Given the description of an element on the screen output the (x, y) to click on. 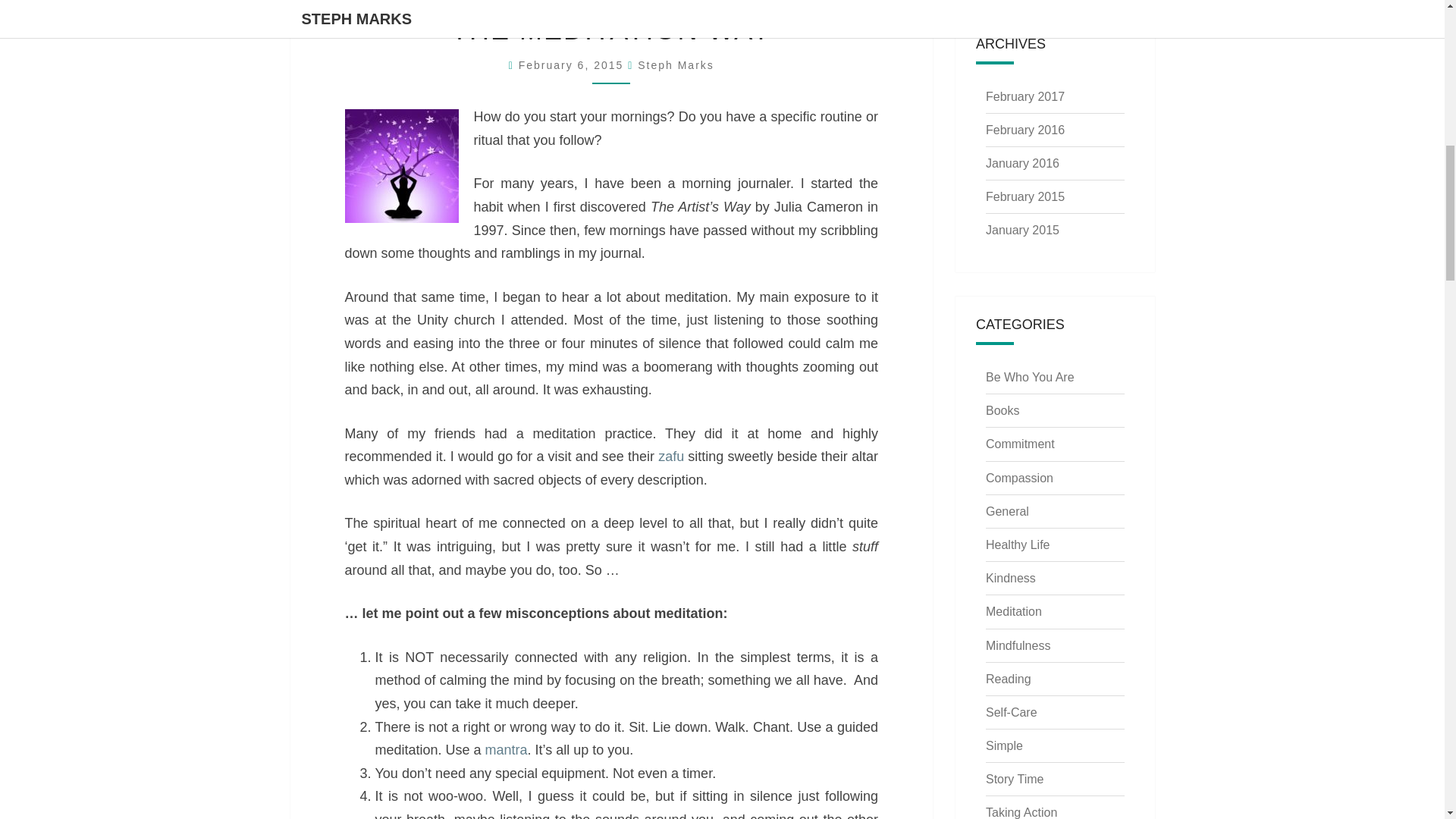
Books (1002, 410)
zafu (671, 456)
January 2016 (1022, 163)
View all posts by Steph Marks (675, 64)
mantra (505, 749)
February 2016 (1024, 129)
mantra (505, 749)
February 6, 2015 (573, 64)
Steph Marks (675, 64)
Be Who You Are (1029, 377)
January 2015 (1022, 229)
February 2017 (1024, 95)
February 2015 (1024, 196)
zafu (671, 456)
12:00 am (573, 64)
